Given the description of an element on the screen output the (x, y) to click on. 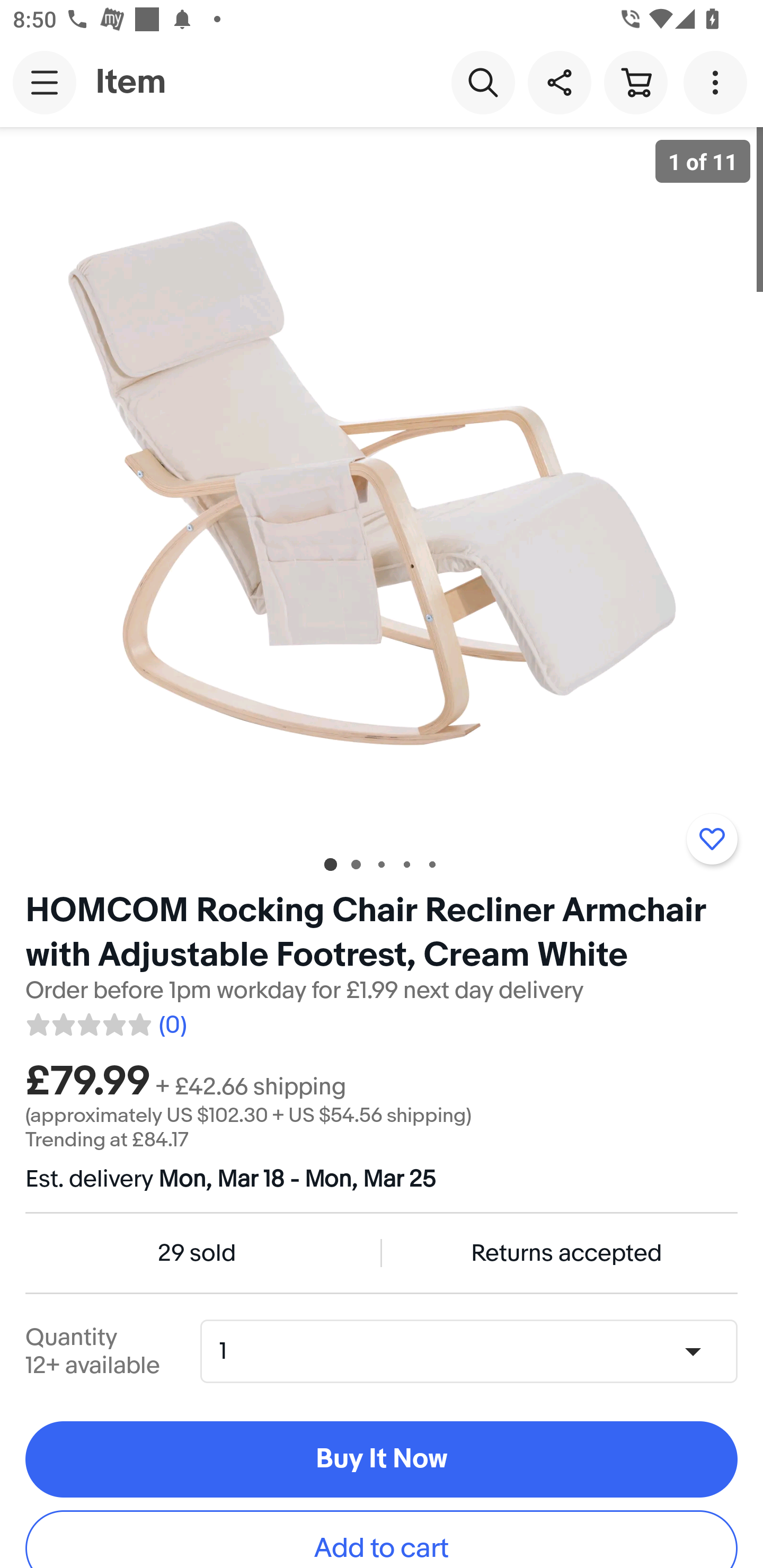
Main navigation, open (44, 82)
Search (482, 81)
Share this item (559, 81)
Cart button shopping cart (635, 81)
More options (718, 81)
Item image 1 of 11 (381, 482)
Add to watchlist (711, 838)
0 reviews. Average rating 0.0 out of five 0.0 (0) (105, 1021)
Quantity,1,12+ available 1 (474, 1351)
Buy It Now (381, 1458)
Add to cart (381, 1538)
